Given the description of an element on the screen output the (x, y) to click on. 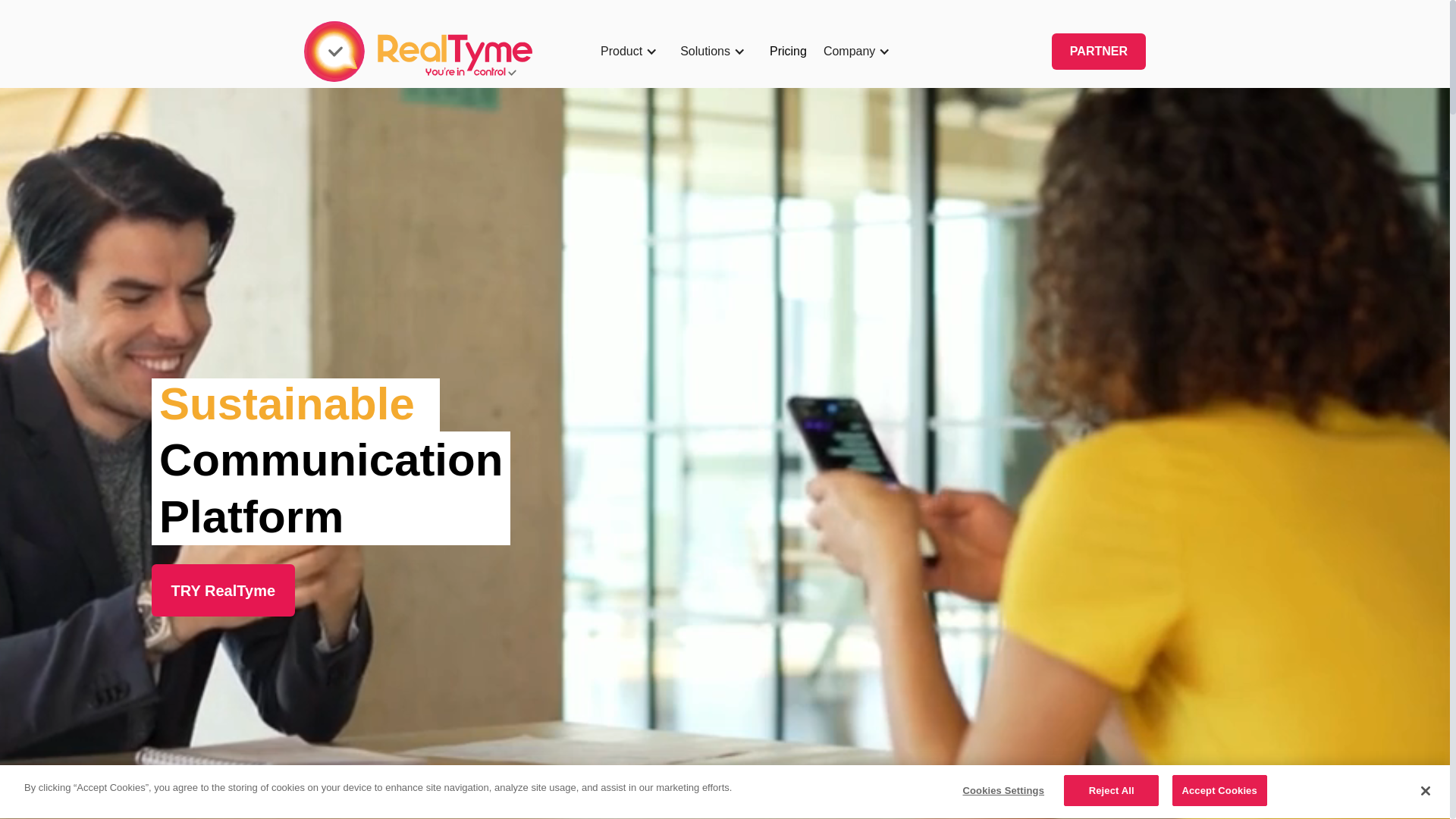
Accept Cookies Element type: text (1219, 790)
TRY RealTyme Element type: text (222, 590)
Cookies Settings Element type: text (1003, 790)
Reject All Element type: text (1110, 790)
Pricing Element type: text (787, 51)
PARTNER Element type: text (1098, 51)
